Given the description of an element on the screen output the (x, y) to click on. 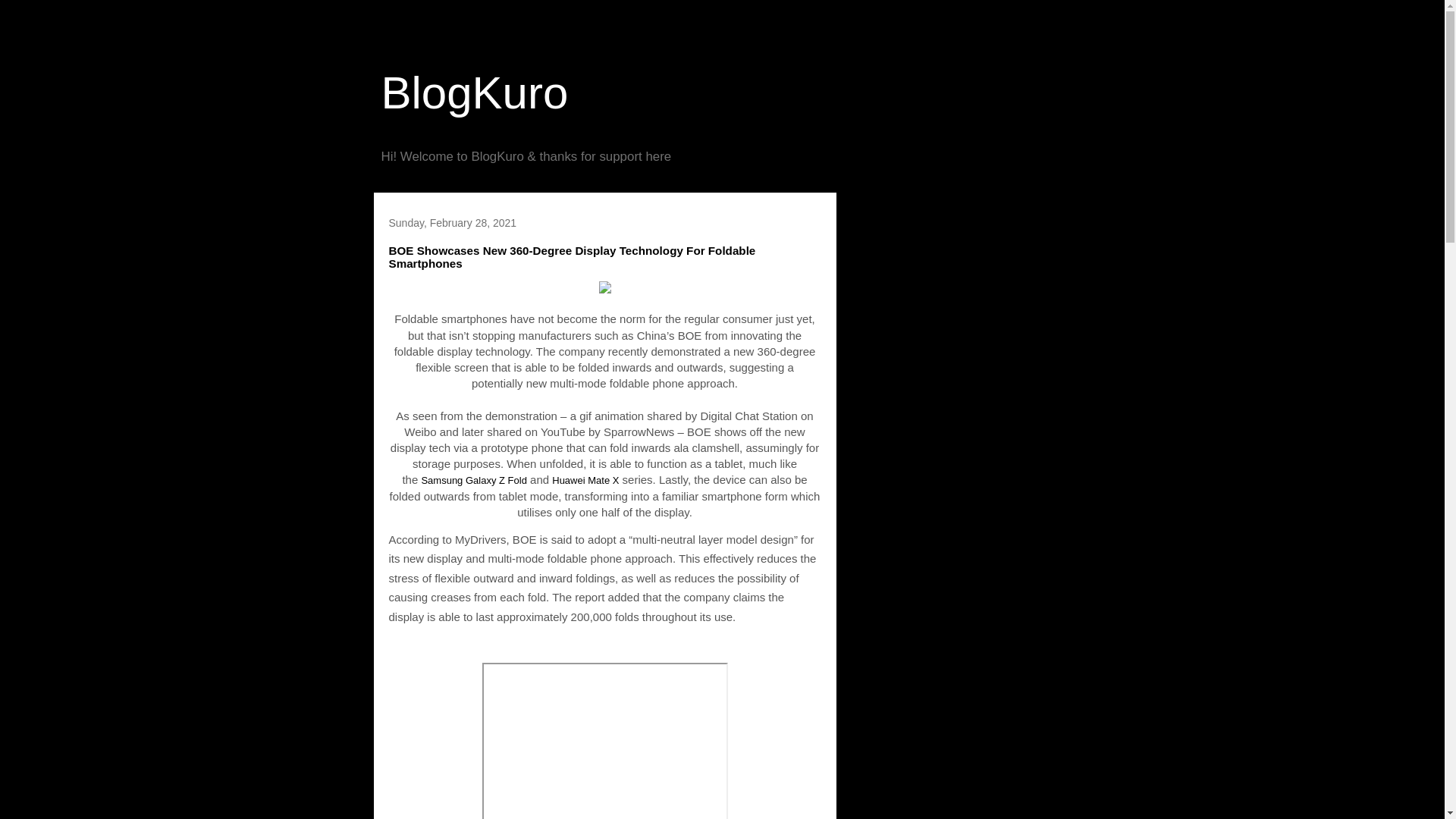
BlogKuro (473, 92)
